Given the description of an element on the screen output the (x, y) to click on. 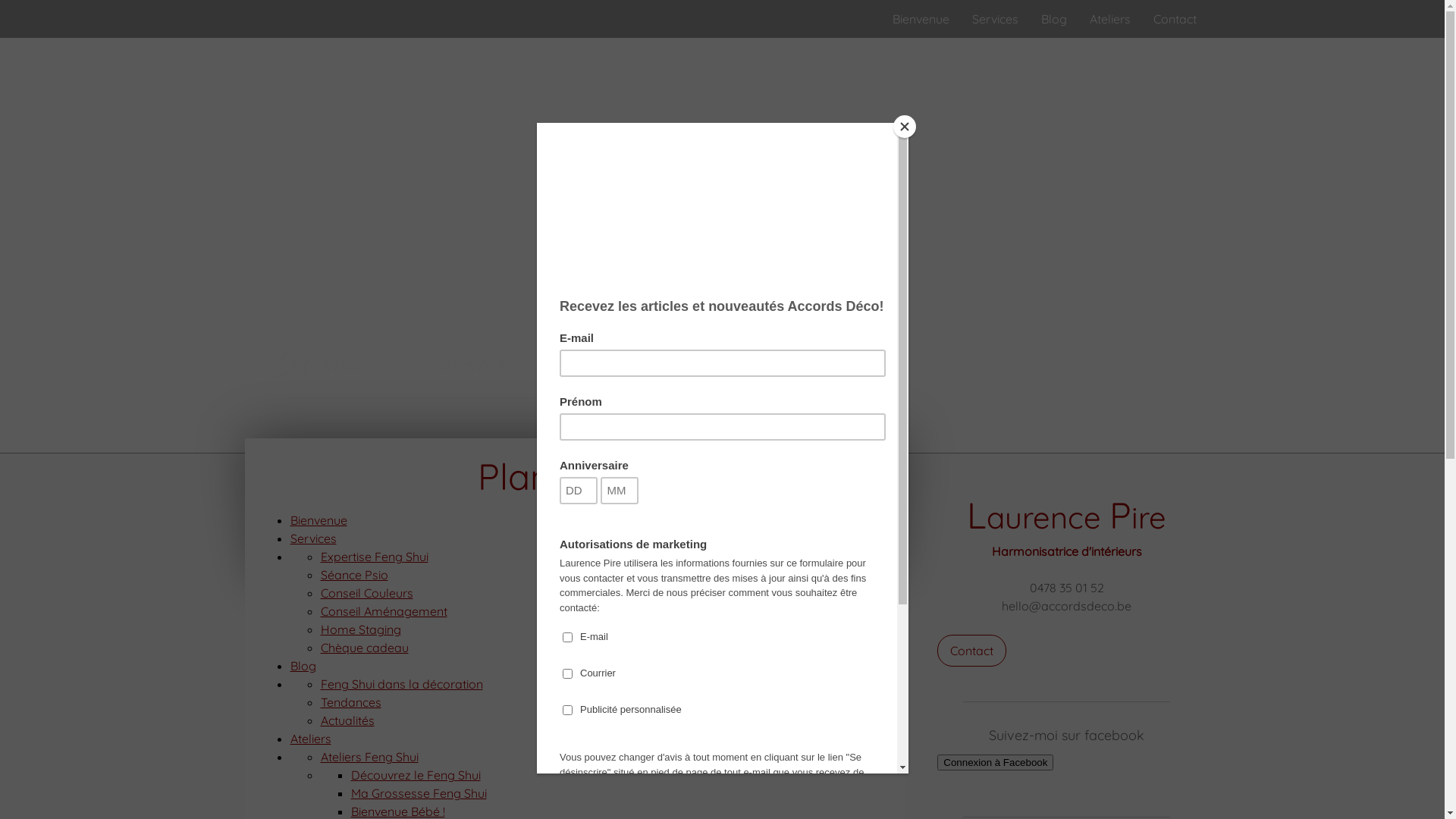
Tendances Element type: text (350, 701)
Services Element type: text (994, 18)
Contact Element type: text (1175, 18)
Blog Element type: text (1053, 18)
Home Staging Element type: text (360, 629)
Ma Grossesse Feng Shui Element type: text (418, 792)
Contact Element type: text (971, 650)
Services Element type: text (312, 538)
Conseil Couleurs Element type: text (366, 592)
Ateliers Element type: text (309, 738)
Ateliers Element type: text (1110, 18)
Bienvenue Element type: text (920, 18)
Blog Element type: text (302, 665)
Ateliers Feng Shui Element type: text (368, 756)
Expertise Feng Shui Element type: text (373, 556)
Bienvenue Element type: text (317, 519)
